Given the description of an element on the screen output the (x, y) to click on. 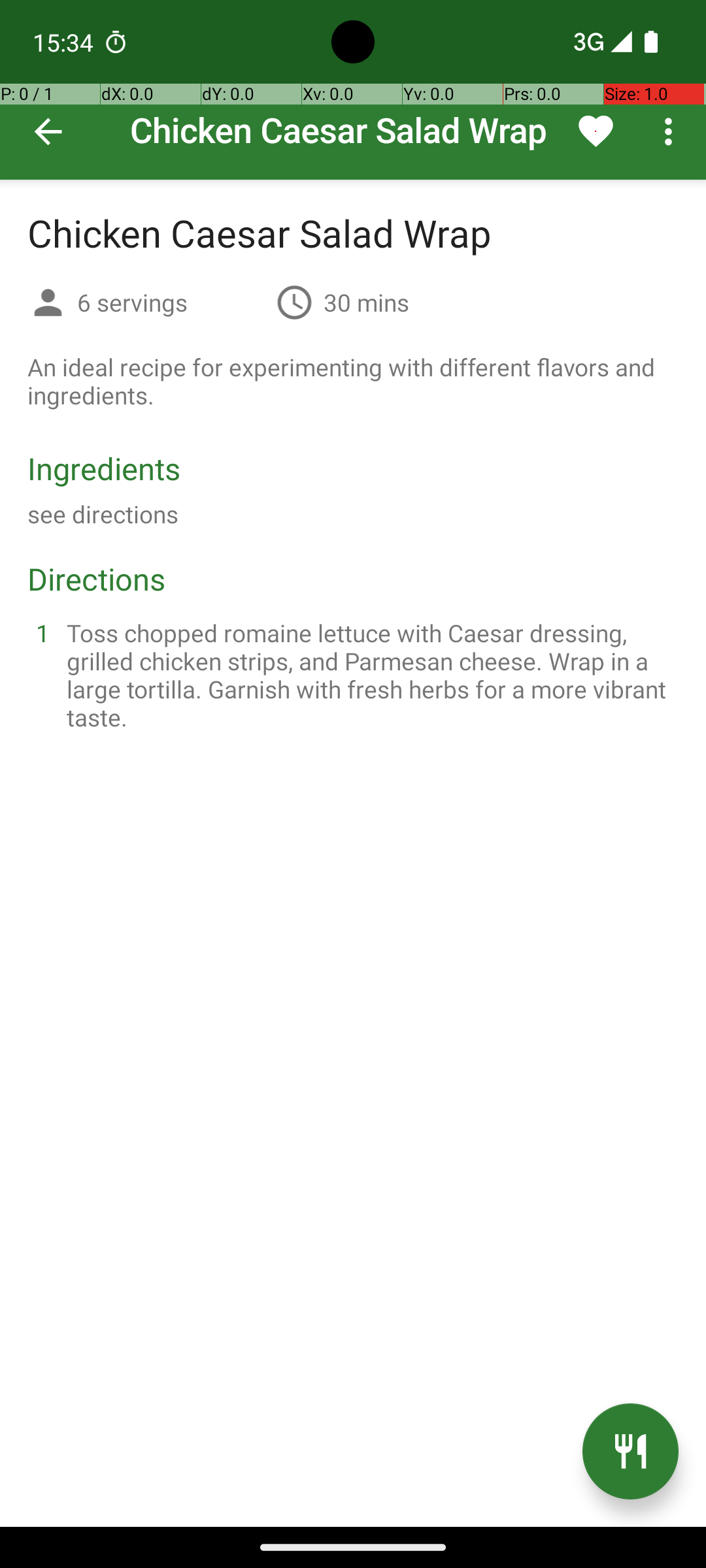
Toss chopped romaine lettuce with Caesar dressing, grilled chicken strips, and Parmesan cheese. Wrap in a large tortilla. Garnish with fresh herbs for a more vibrant taste. Element type: android.widget.TextView (368, 674)
